Given the description of an element on the screen output the (x, y) to click on. 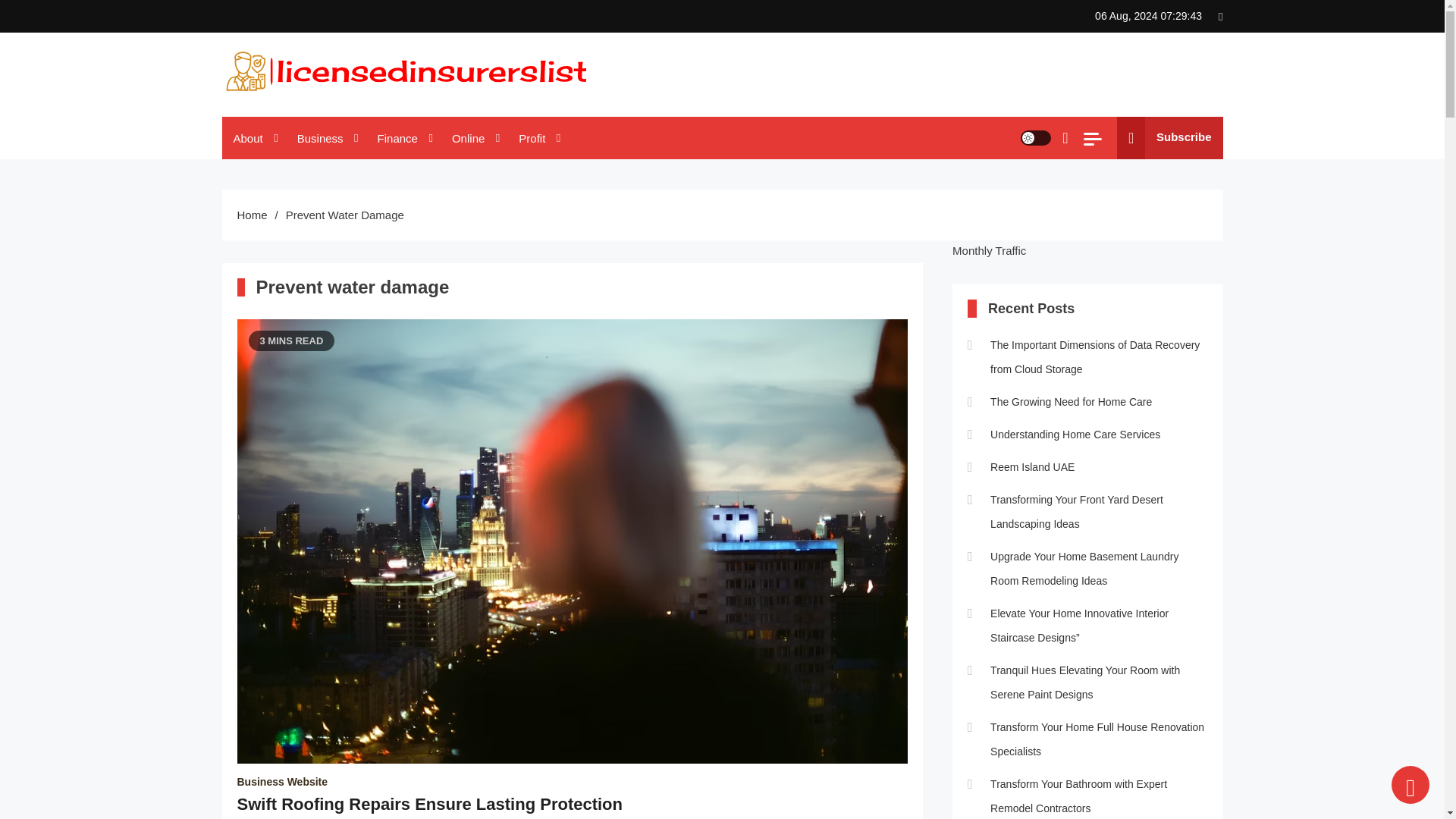
About (253, 137)
Finance (403, 137)
Online (473, 137)
Business (325, 137)
site mode button (1035, 137)
Profit (536, 137)
Licensedinsurerslist (331, 110)
